Given the description of an element on the screen output the (x, y) to click on. 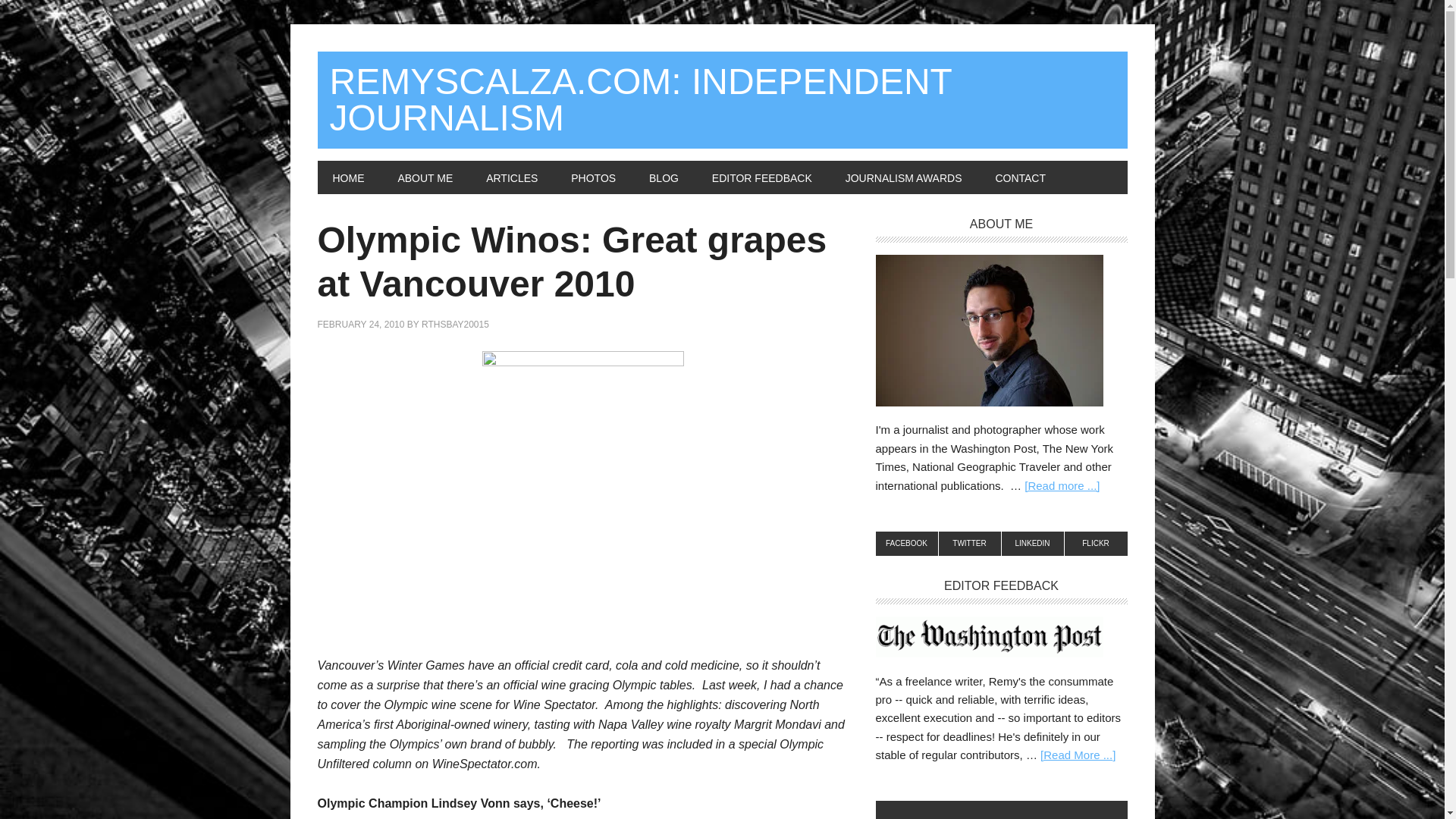
CONTACT (1020, 177)
Olympic Winos: Great grapes at Vancouver 2010 (572, 261)
REMYSCALZA.COM: INDEPENDENT JOURNALISM (721, 99)
HOME (347, 177)
ABOUT ME (424, 177)
PHOTOS (593, 177)
BLOG (663, 177)
RTHSBAY20015 (455, 324)
JOURNALISM AWARDS (902, 177)
EDITOR FEEDBACK (762, 177)
ARTICLES (511, 177)
